Given the description of an element on the screen output the (x, y) to click on. 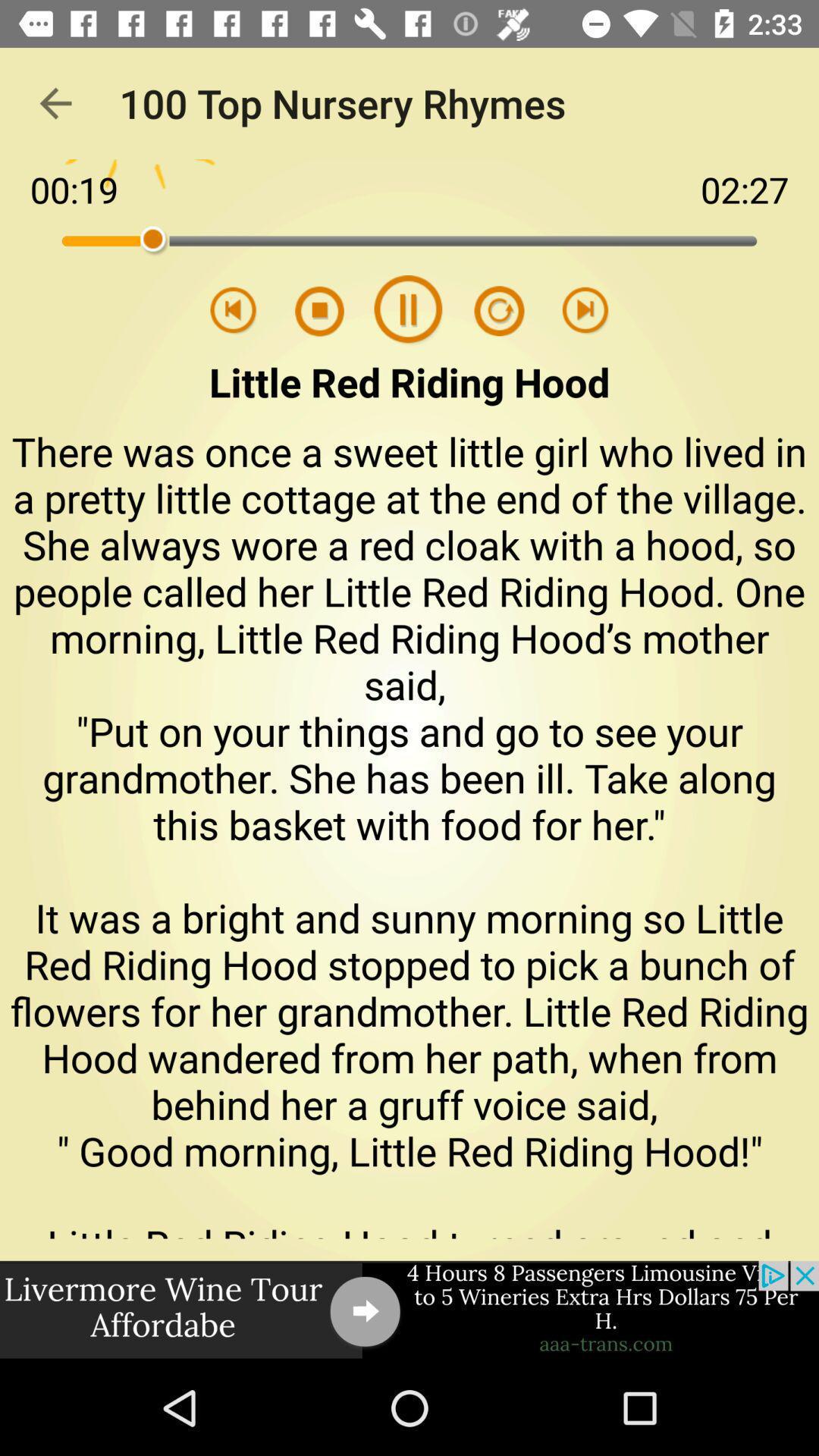
go to play (585, 310)
